Given the description of an element on the screen output the (x, y) to click on. 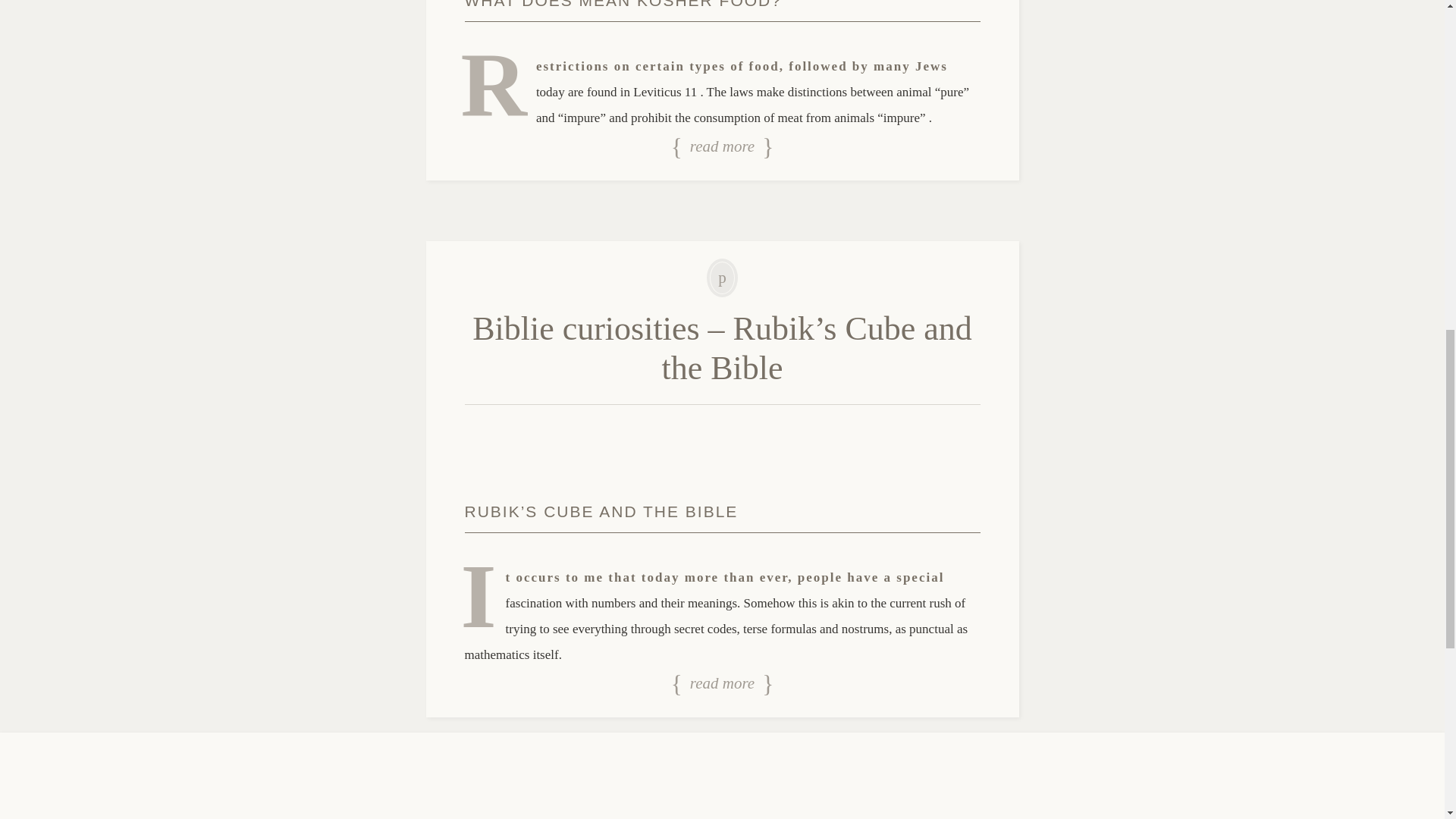
read more (721, 147)
read more (721, 684)
